Given the description of an element on the screen output the (x, y) to click on. 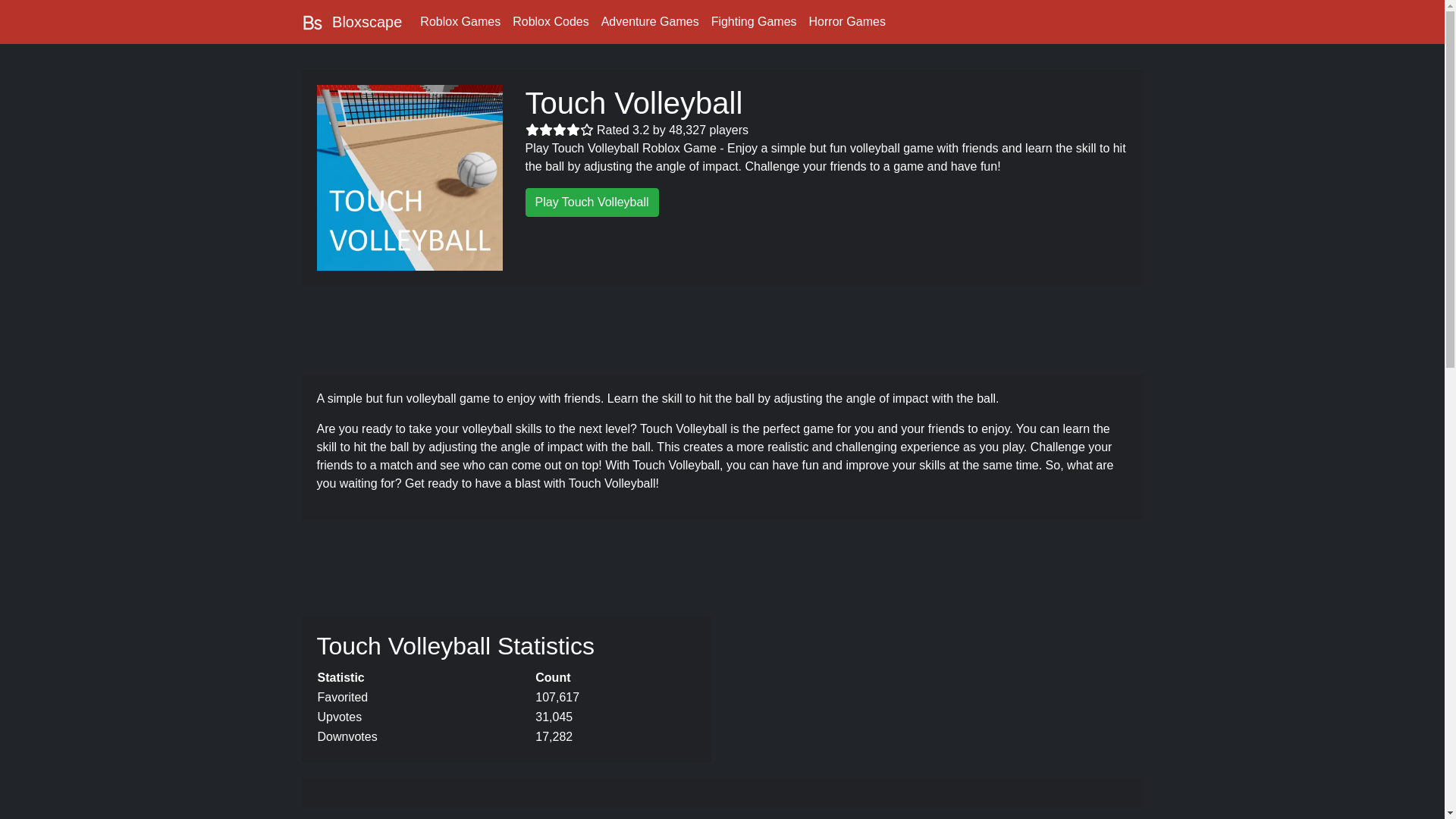
Advertisement (721, 561)
Advertisement (721, 327)
Fighting Games (753, 21)
Home (312, 22)
Adventure Games (649, 21)
Roblox Codes (550, 21)
Roblox Games (649, 21)
Bloxscape (352, 21)
Horror Games (847, 21)
